Given the description of an element on the screen output the (x, y) to click on. 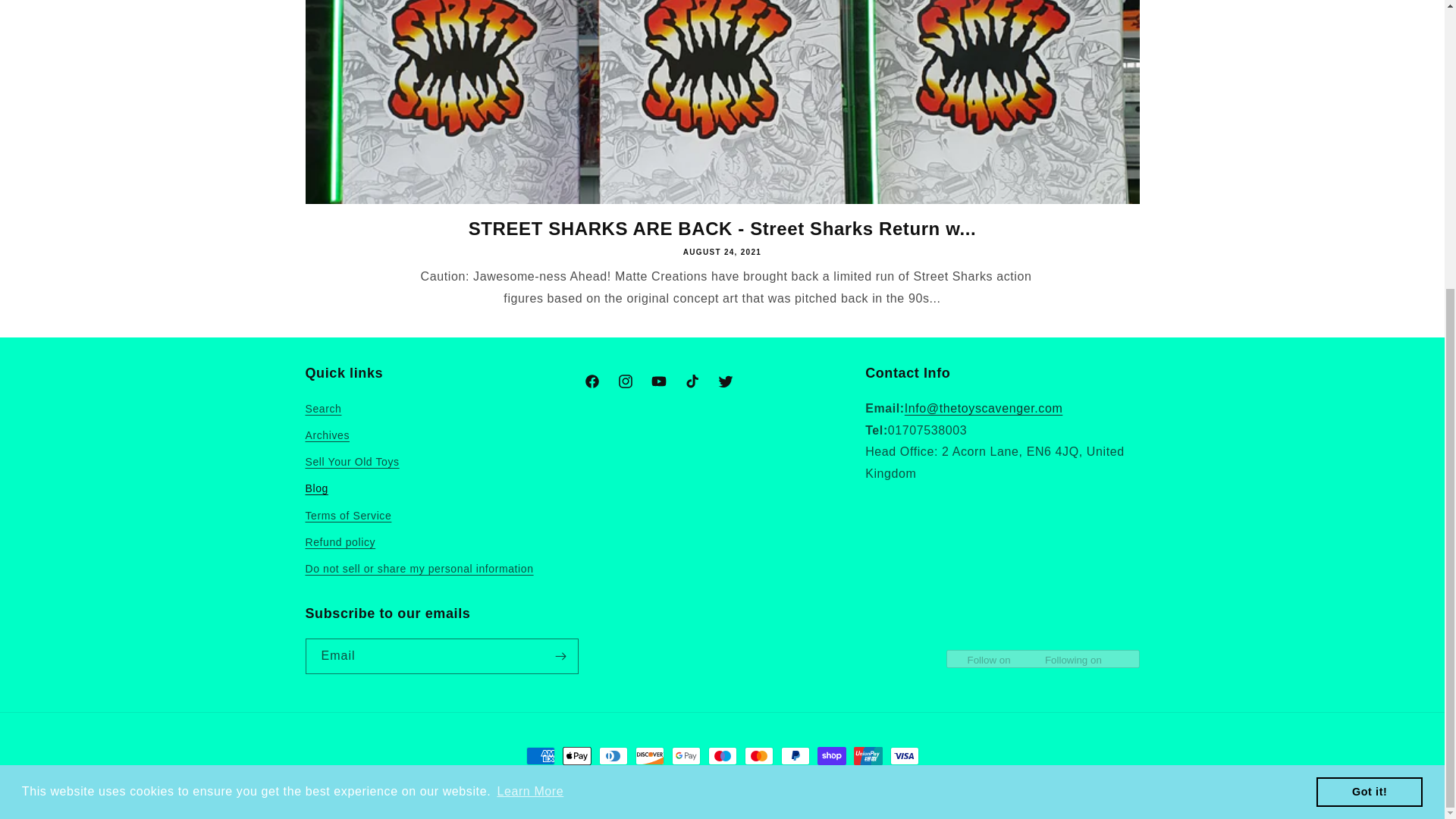
Learn More (530, 354)
Contact Us (983, 408)
Got it! (1369, 354)
